Given the description of an element on the screen output the (x, y) to click on. 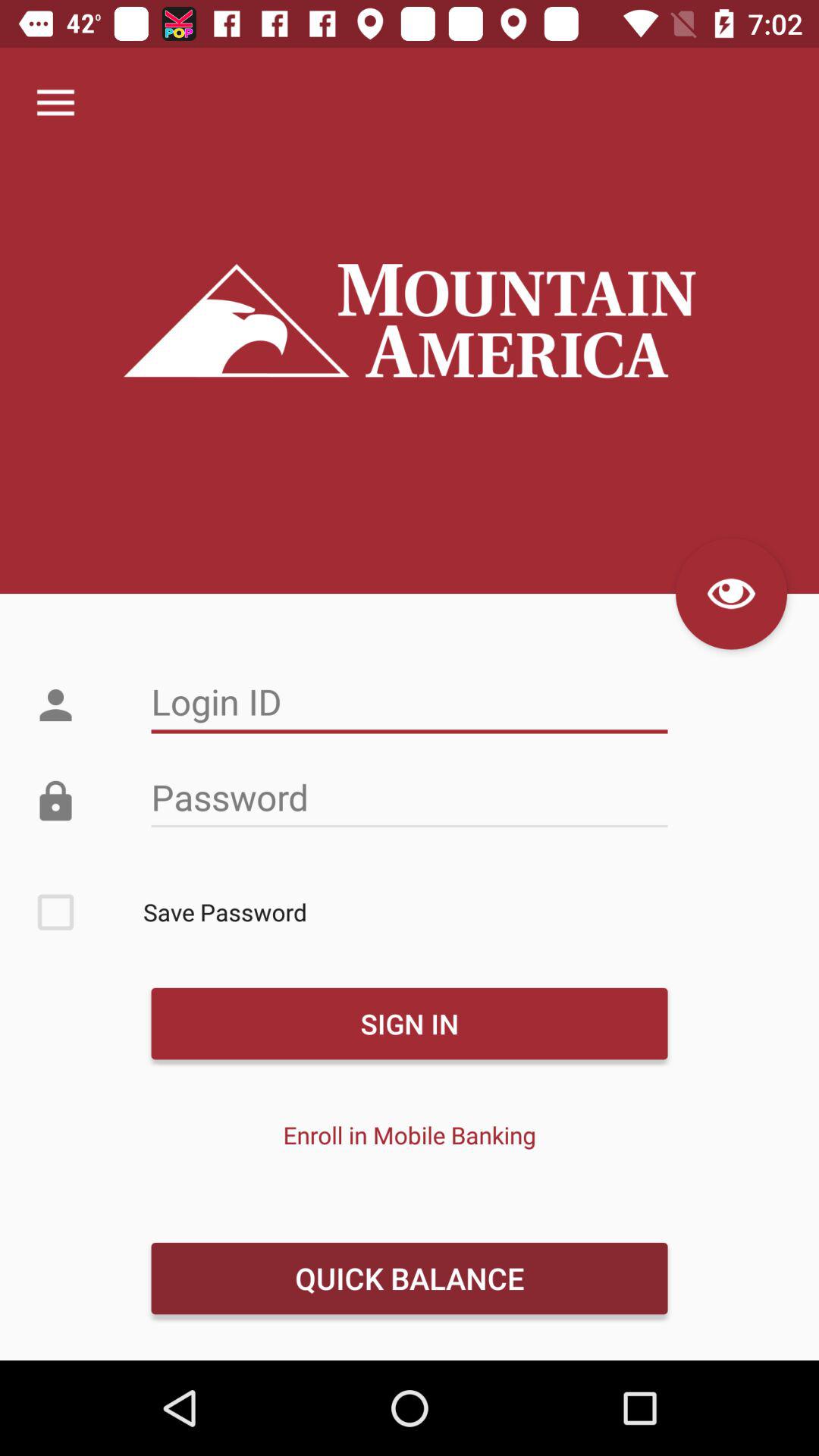
enter login id (409, 702)
